Given the description of an element on the screen output the (x, y) to click on. 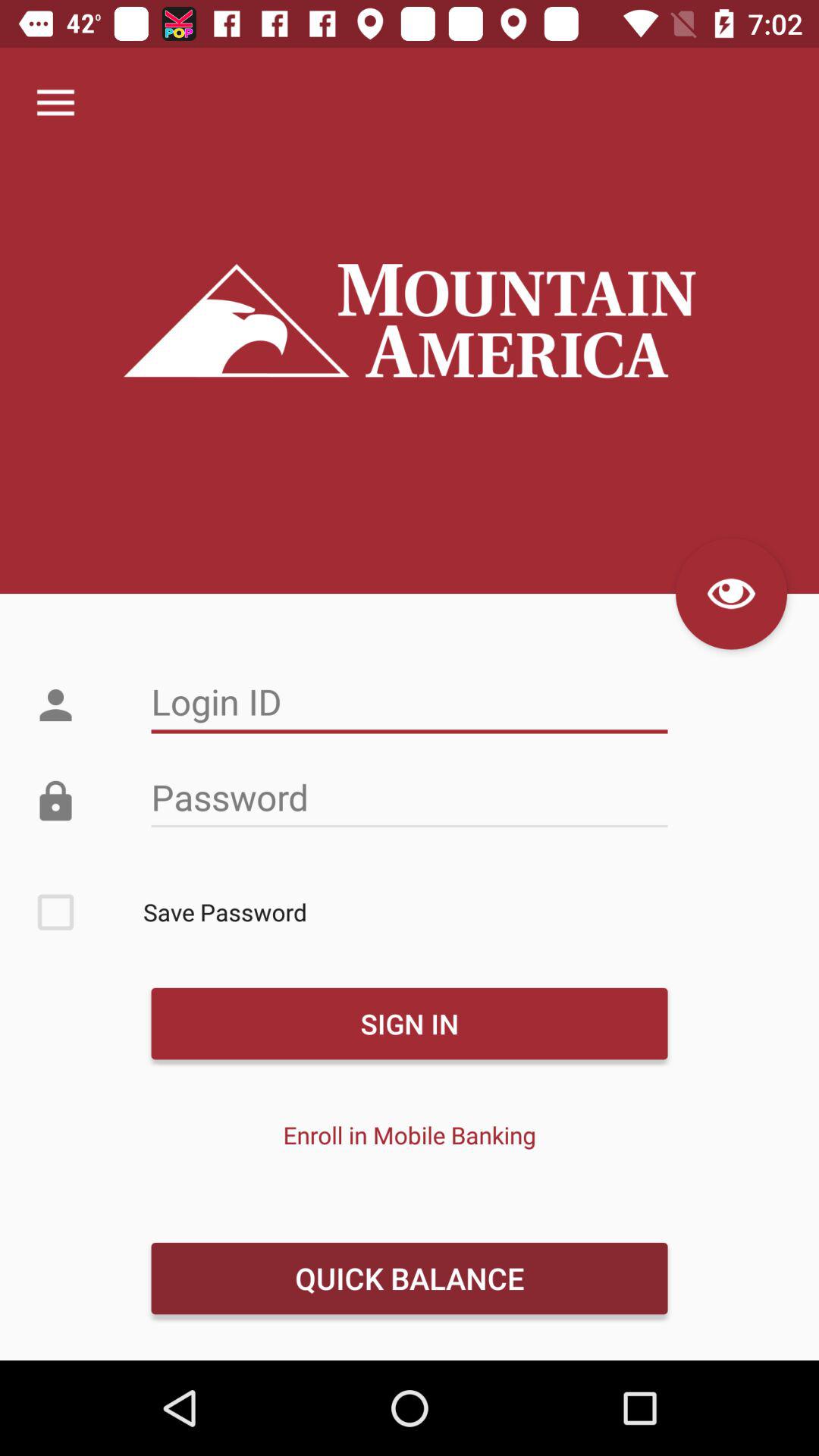
enter login id (409, 702)
